Given the description of an element on the screen output the (x, y) to click on. 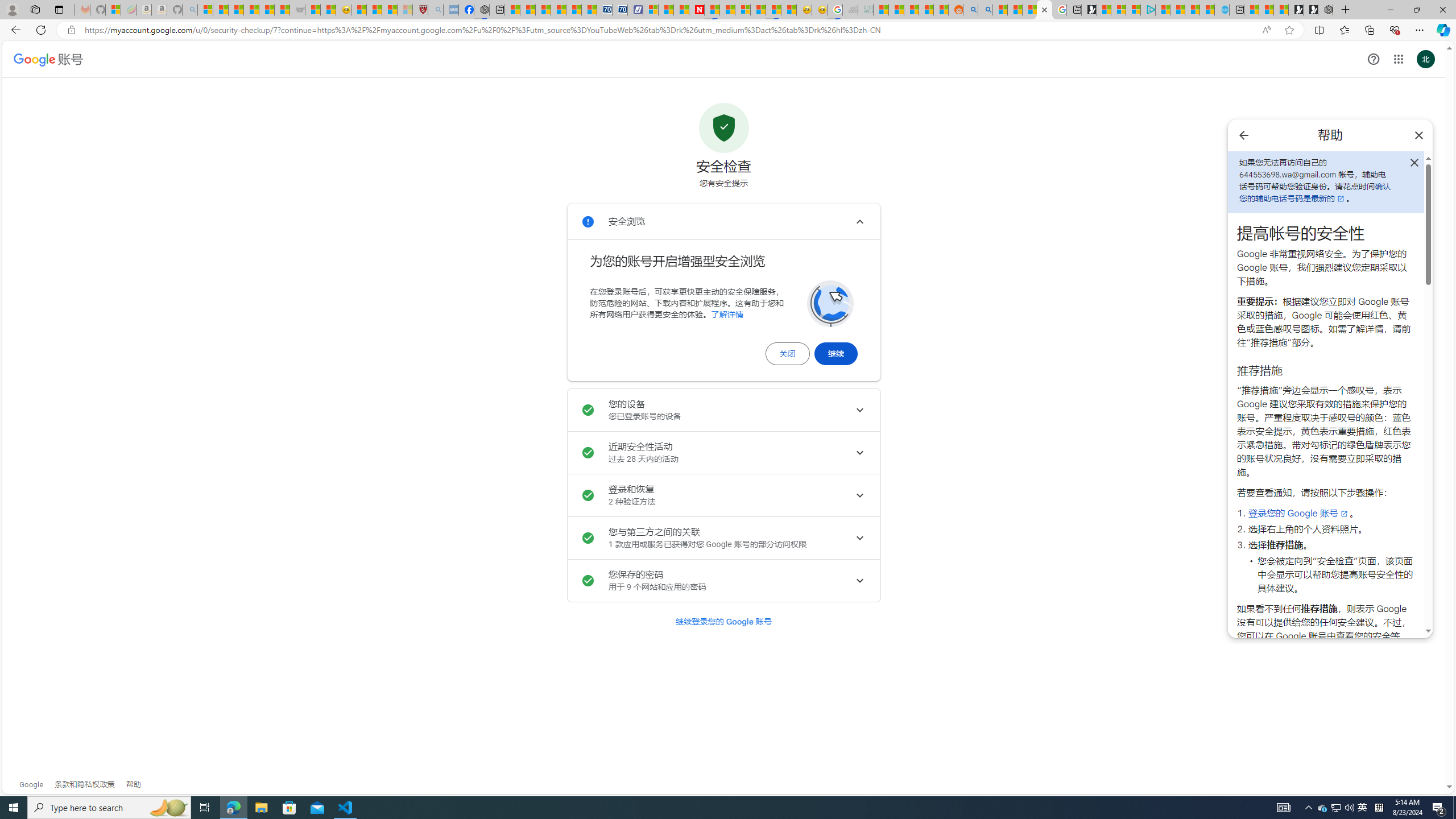
Utah sues federal government - Search (984, 9)
